Given the description of an element on the screen output the (x, y) to click on. 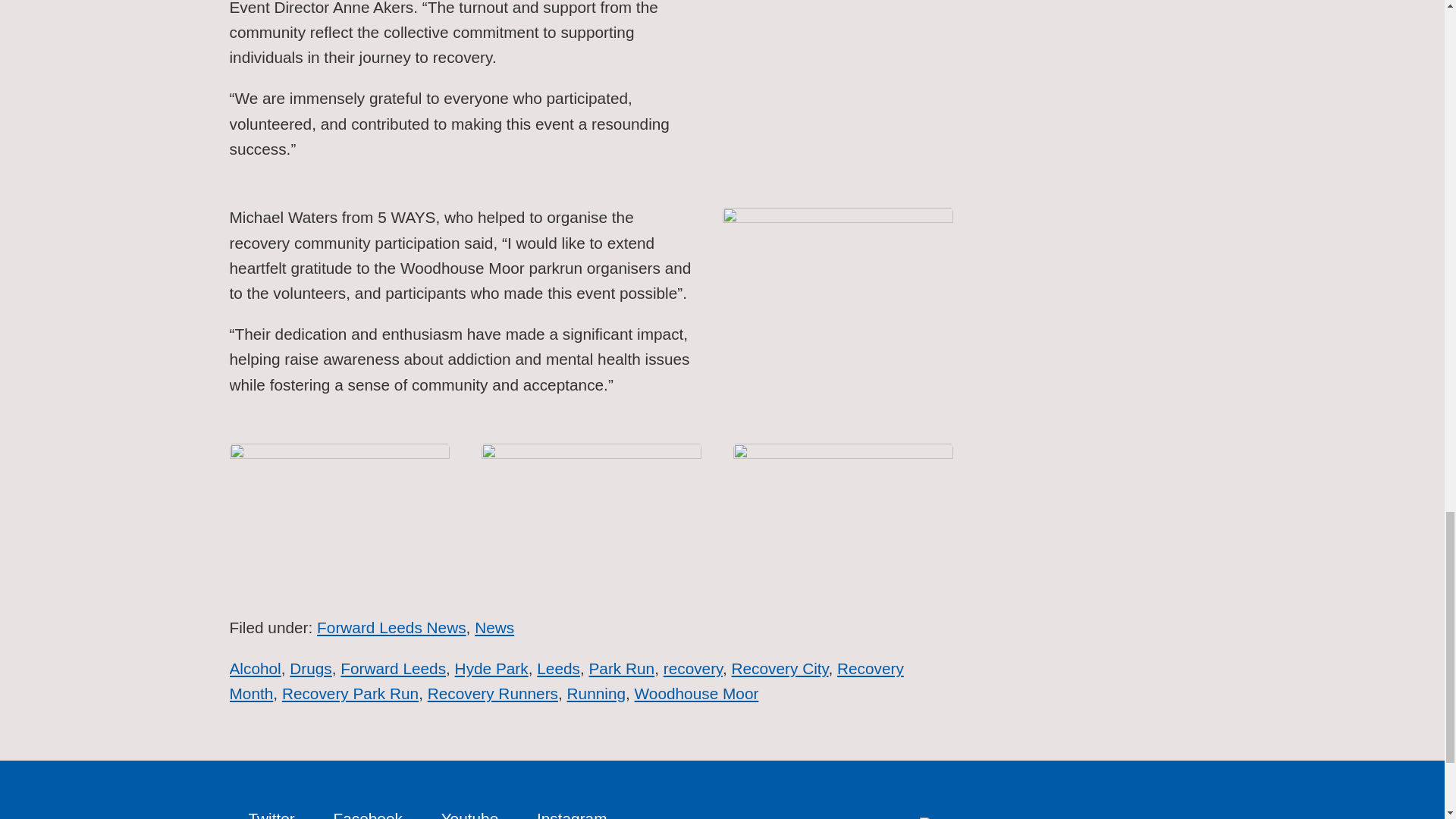
Forward Leeds News (391, 628)
recovery (692, 668)
Alcohol (254, 669)
Running (596, 692)
Drugs (310, 669)
Recovery Runners (492, 692)
Recovery City (780, 668)
Recovery Park Run (350, 692)
News (493, 628)
Woodhouse Moor (696, 692)
